Given the description of an element on the screen output the (x, y) to click on. 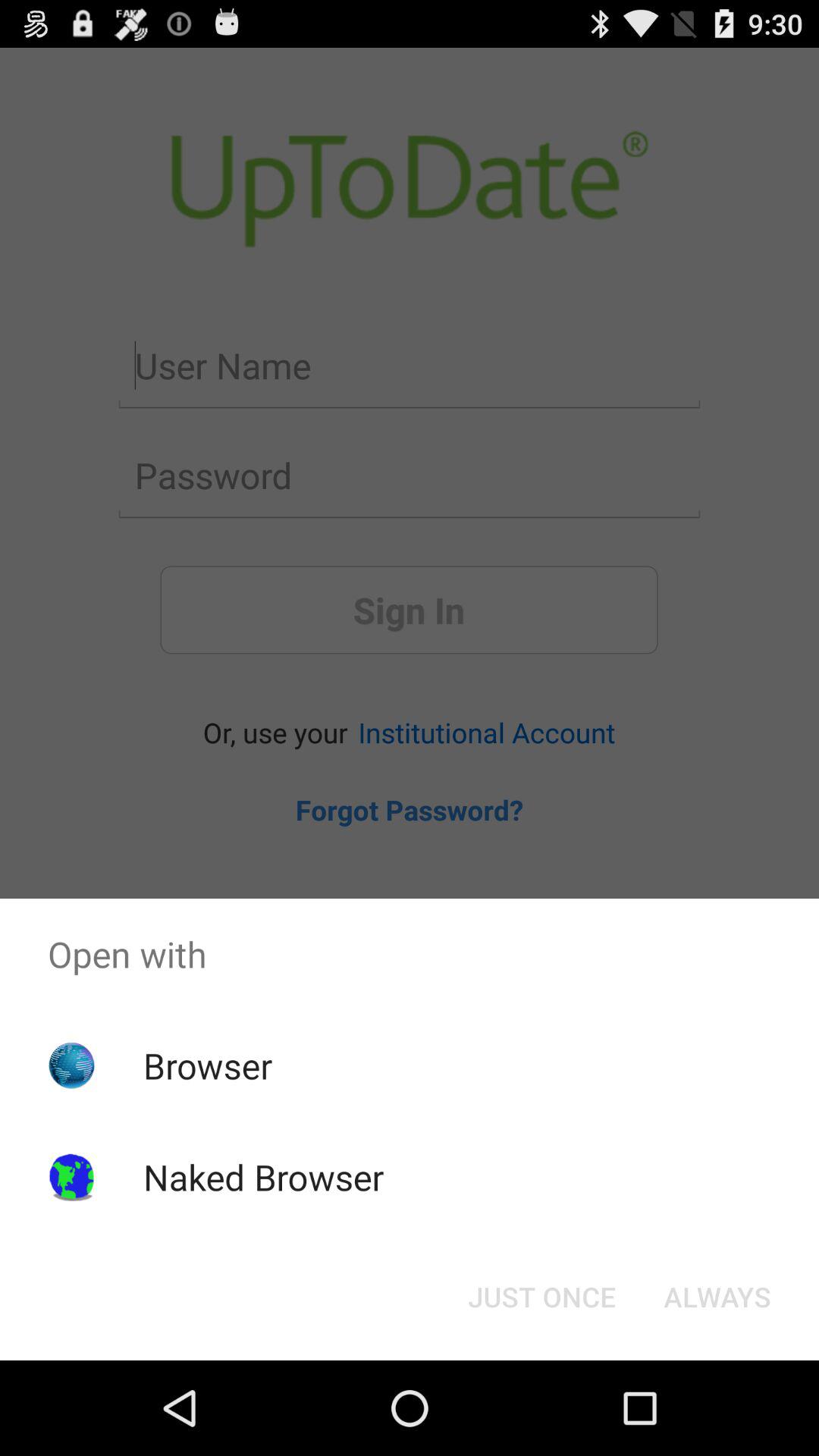
choose the icon next to the just once (717, 1296)
